Given the description of an element on the screen output the (x, y) to click on. 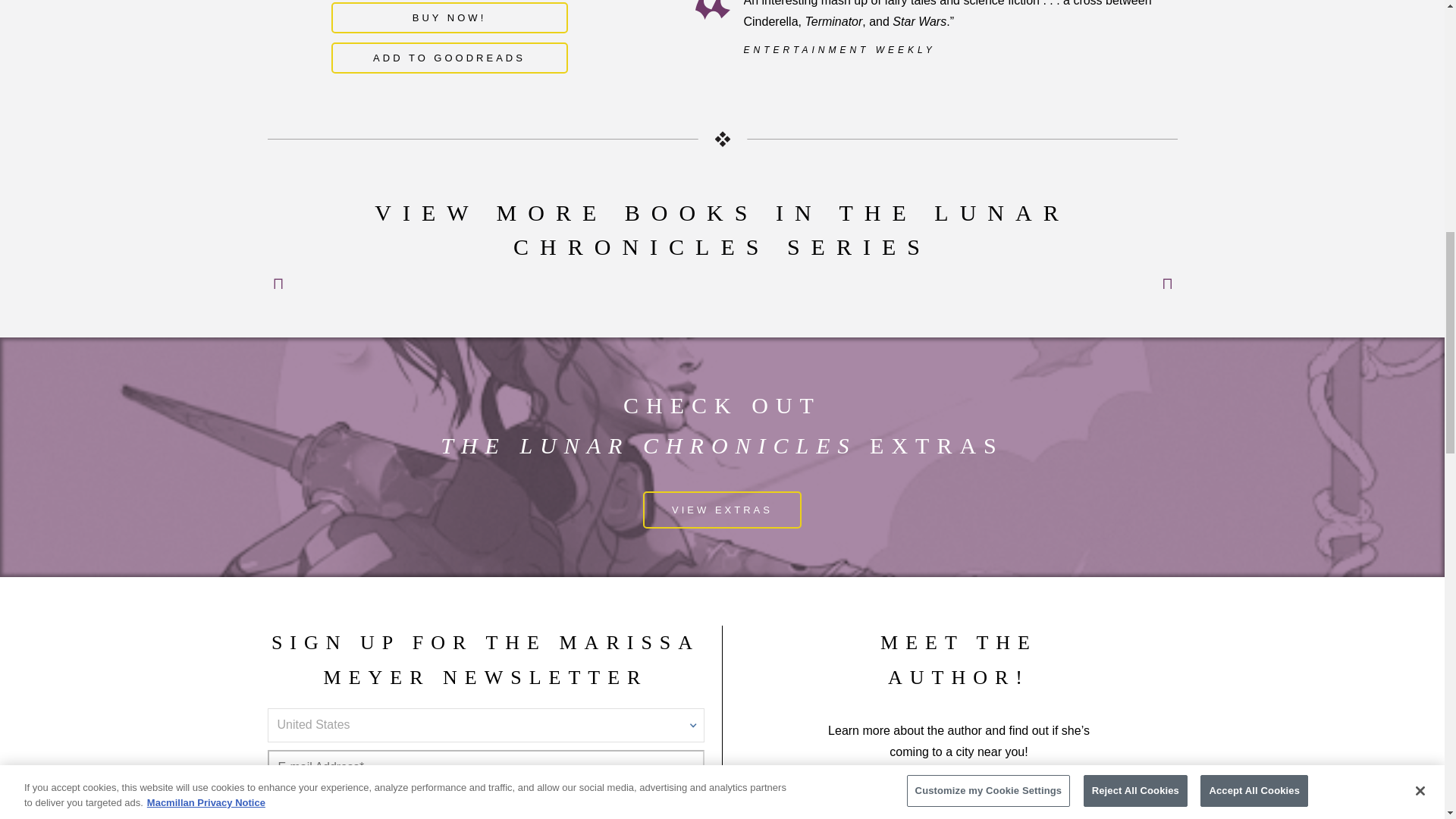
ADD TO GOODREADS (448, 57)
